Given the description of an element on the screen output the (x, y) to click on. 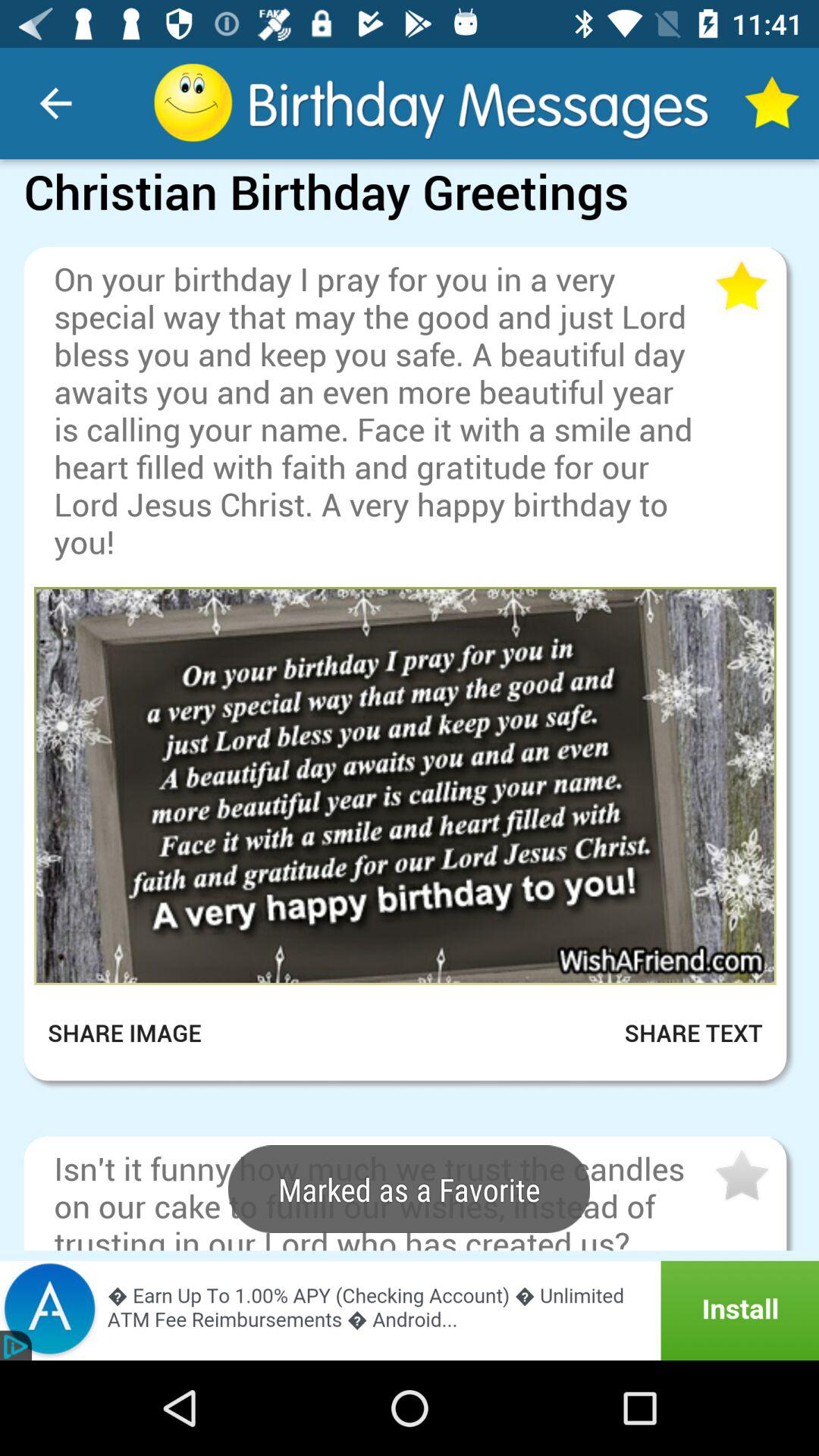
press the icon below the share image item (409, 1101)
